Given the description of an element on the screen output the (x, y) to click on. 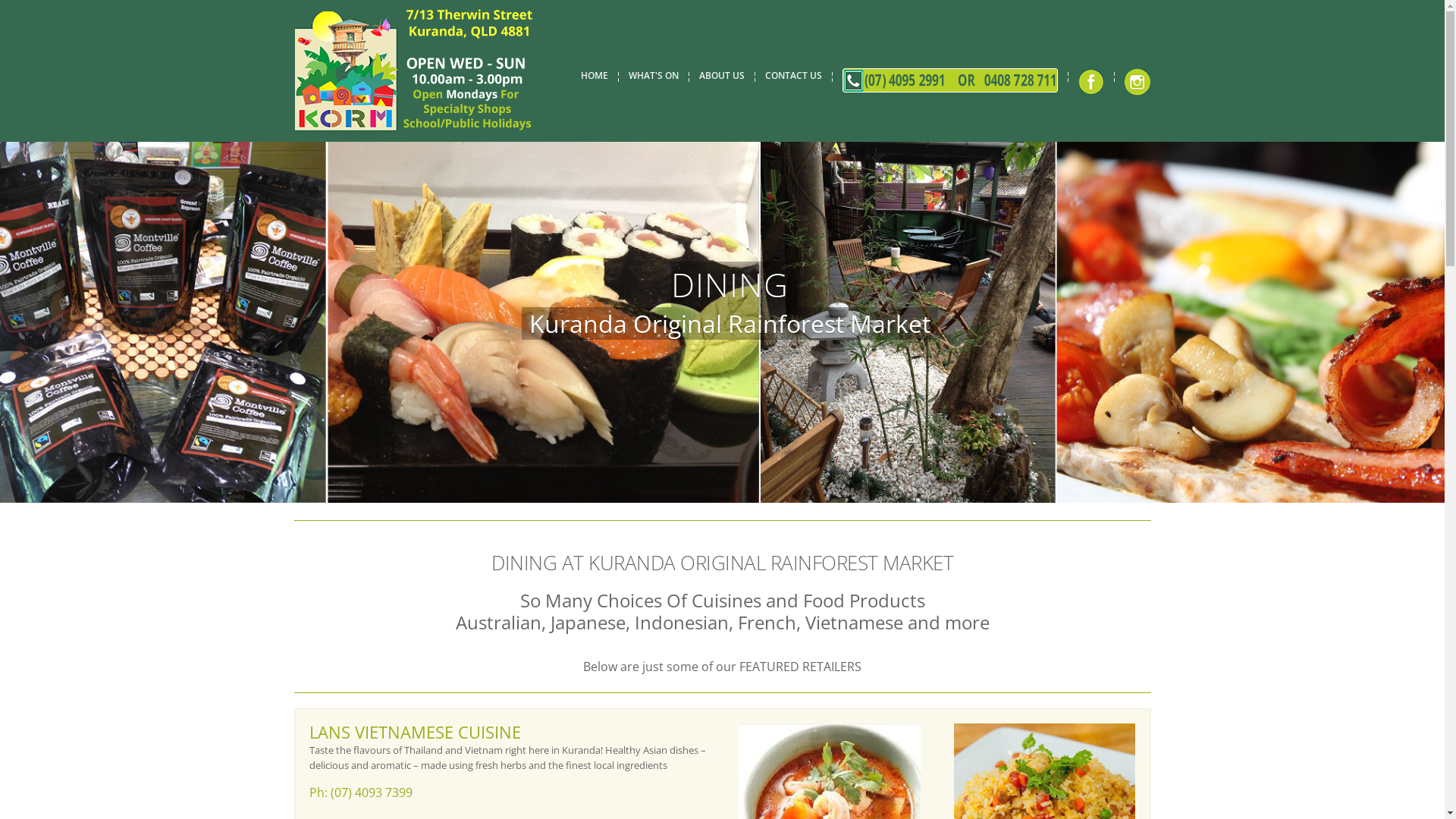
SHOPPING AT THE KURANDA MARKET Element type: text (974, 453)
EVENTS AT THE KURANDA MARKET Element type: text (966, 526)
DINING AT THE KURANDA MARKET Element type: text (966, 477)
PLAYING AT THE KURANDA MARKET Element type: text (969, 501)
Website Design Element type: hover (725, 777)
KURANDA MARKET LOCATION Element type: text (956, 574)
MAP OF THE KURANDA MARKET Element type: text (960, 550)
RENT A KURANDA MARKET STALL Element type: text (963, 623)
CONTACT KURANDA MARKET Element type: text (953, 695)
HISTORY OF KURANDA ORIGINAL RAINFOREST MARKET Element type: text (1013, 671)
WHAT'S ON Element type: text (652, 75)
HOME Element type: text (594, 75)
HOME Element type: text (902, 429)
Email:
info@kurandaoriginalrainforestmarket.com.au Element type: text (429, 539)
Original Kuranda Rainforest Market Element type: text (652, 443)
KURANDA MARKET REVIEWS Element type: text (952, 598)
CONTACT US Element type: text (792, 75)
BOTANIC GARDENS VENUE Element type: text (948, 647)
ABOUT US Element type: text (721, 75)
